Given the description of an element on the screen output the (x, y) to click on. 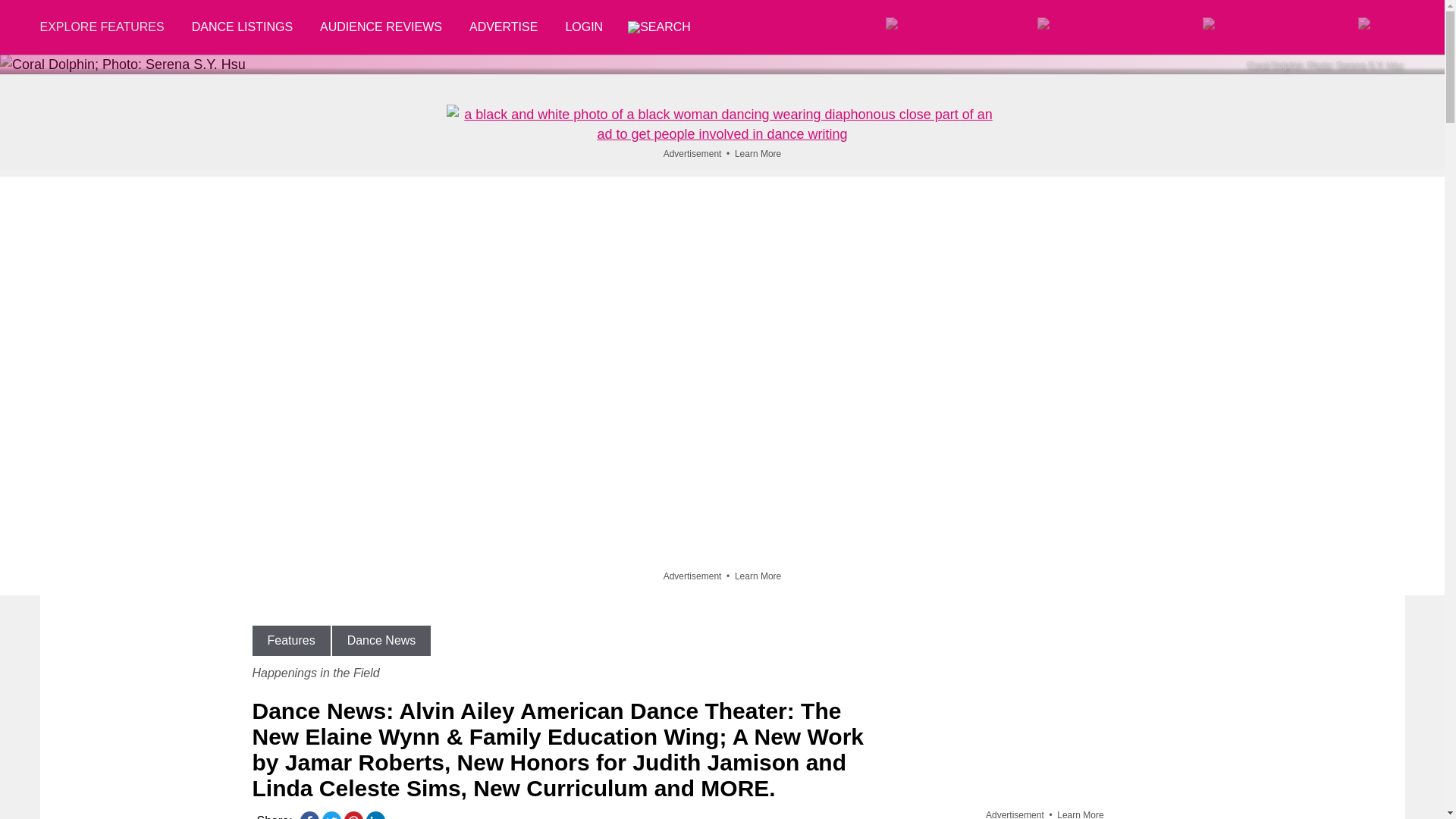
AUDIENCE REVIEWS (380, 27)
ADVERTISE (503, 27)
Twitter (331, 816)
Facebook (309, 816)
LOGIN (583, 27)
LinkedIn (375, 816)
EXPLORE FEATURES (108, 27)
Pinterest (353, 816)
DANCE LISTINGS (241, 27)
